Given the description of an element on the screen output the (x, y) to click on. 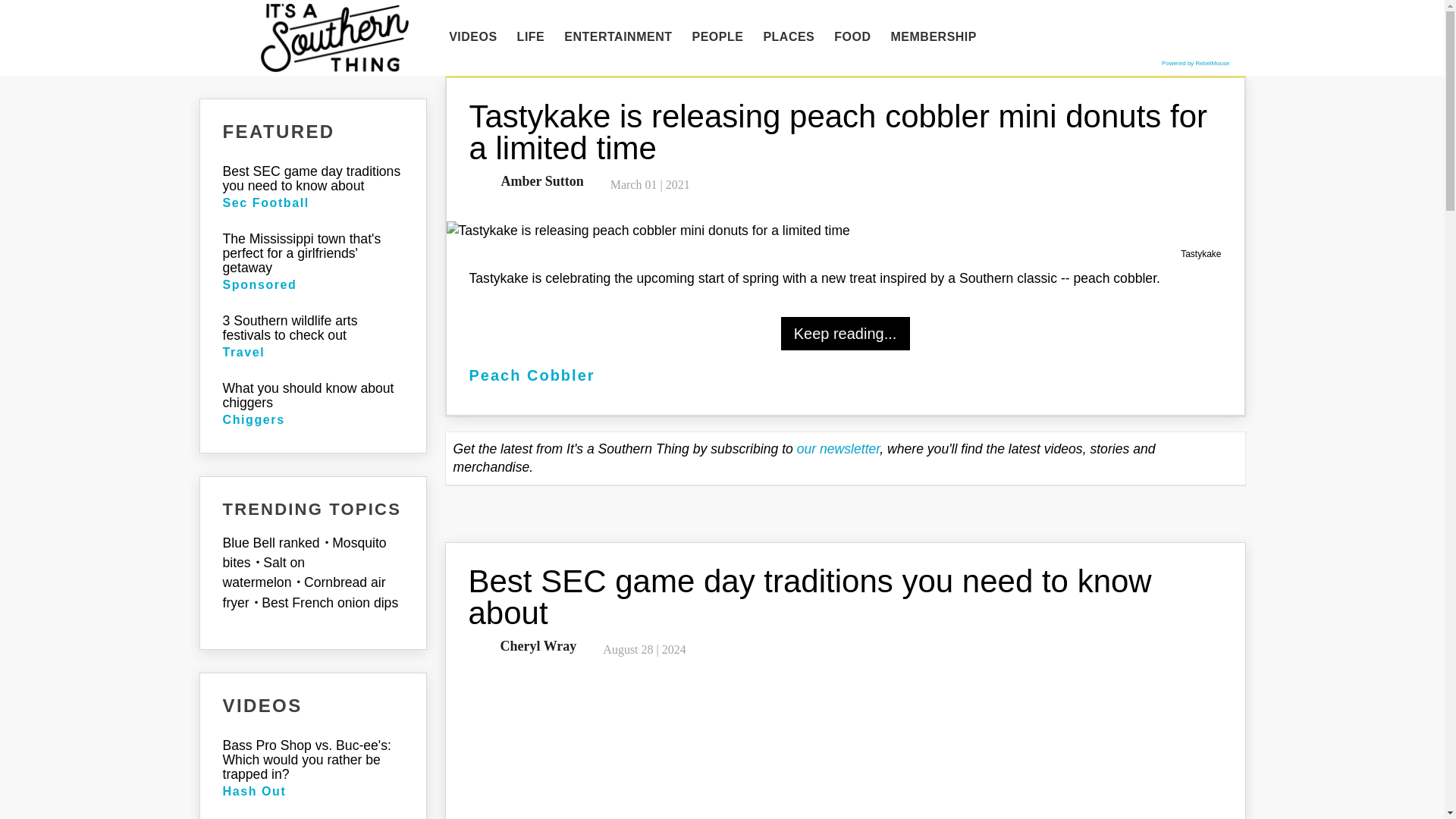
Powered by RebelMouse (1194, 62)
Peach Cobbler (531, 375)
Best CMS  (1194, 62)
Cheryl Wray (535, 645)
PLACES (788, 36)
our newsletter (838, 448)
VIDEOS (472, 36)
Best SEC game day traditions you need to know about (809, 596)
LIFE (530, 36)
PEOPLE (716, 36)
